Given the description of an element on the screen output the (x, y) to click on. 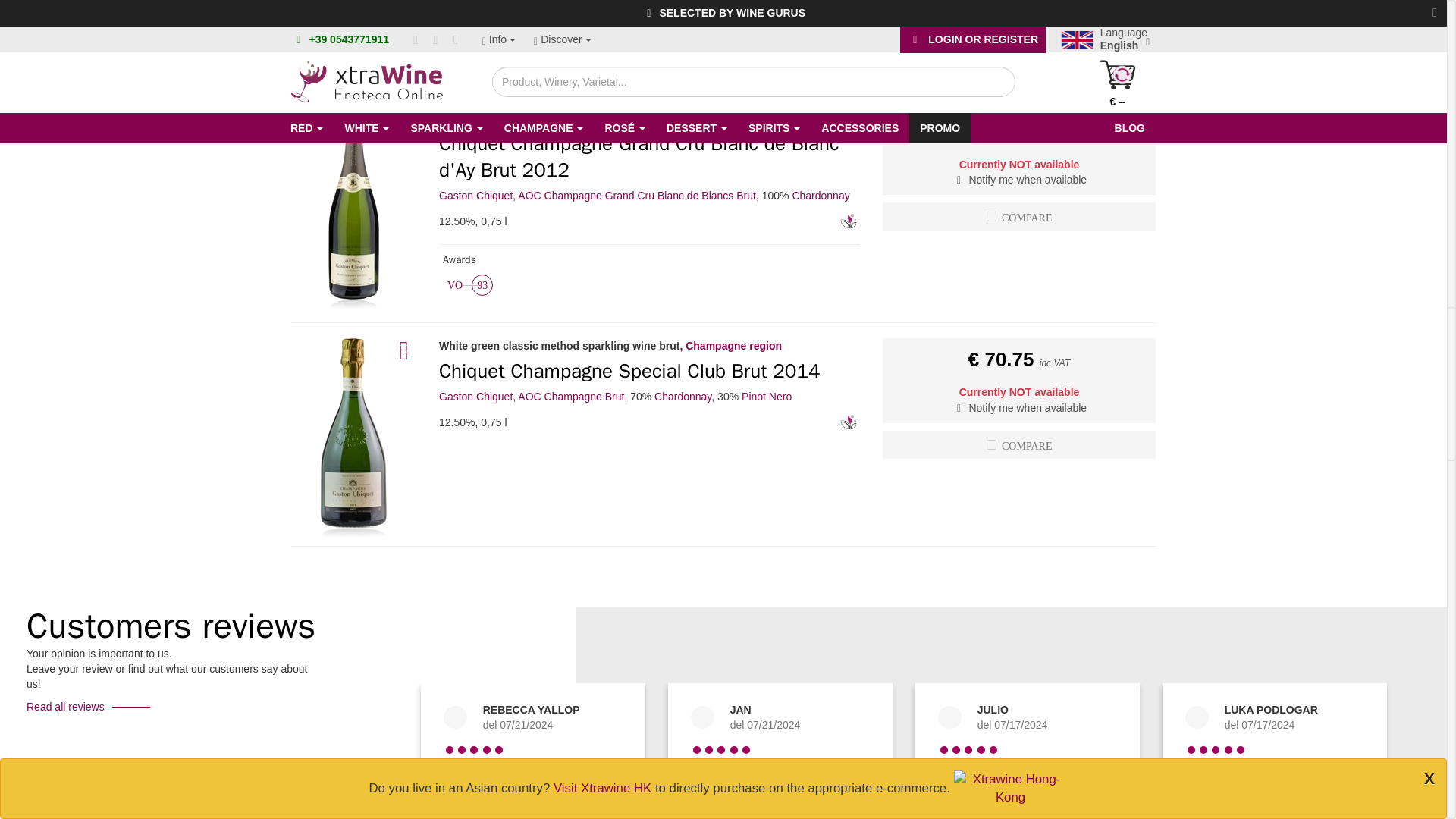
on (991, 216)
on (991, 444)
